Given the description of an element on the screen output the (x, y) to click on. 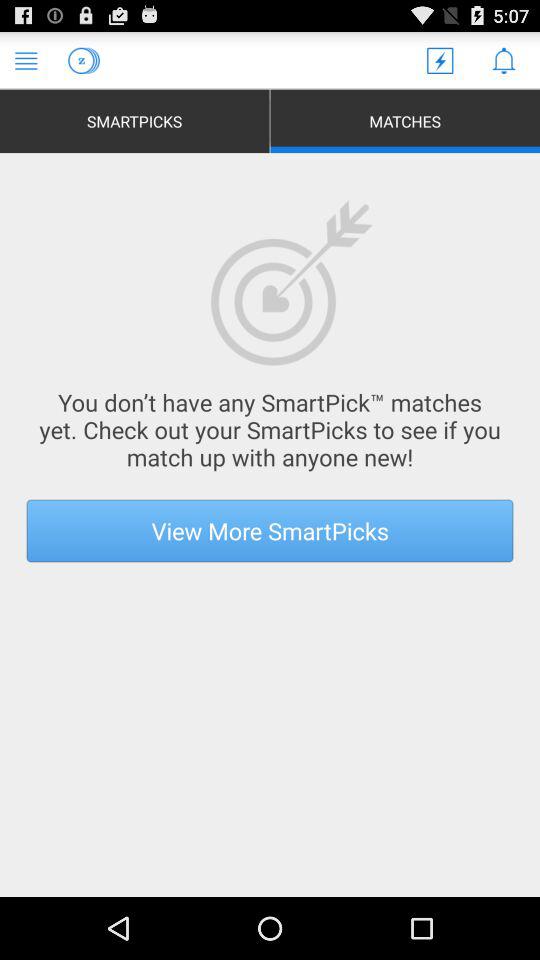
click view more smartpicks icon (269, 530)
